Given the description of an element on the screen output the (x, y) to click on. 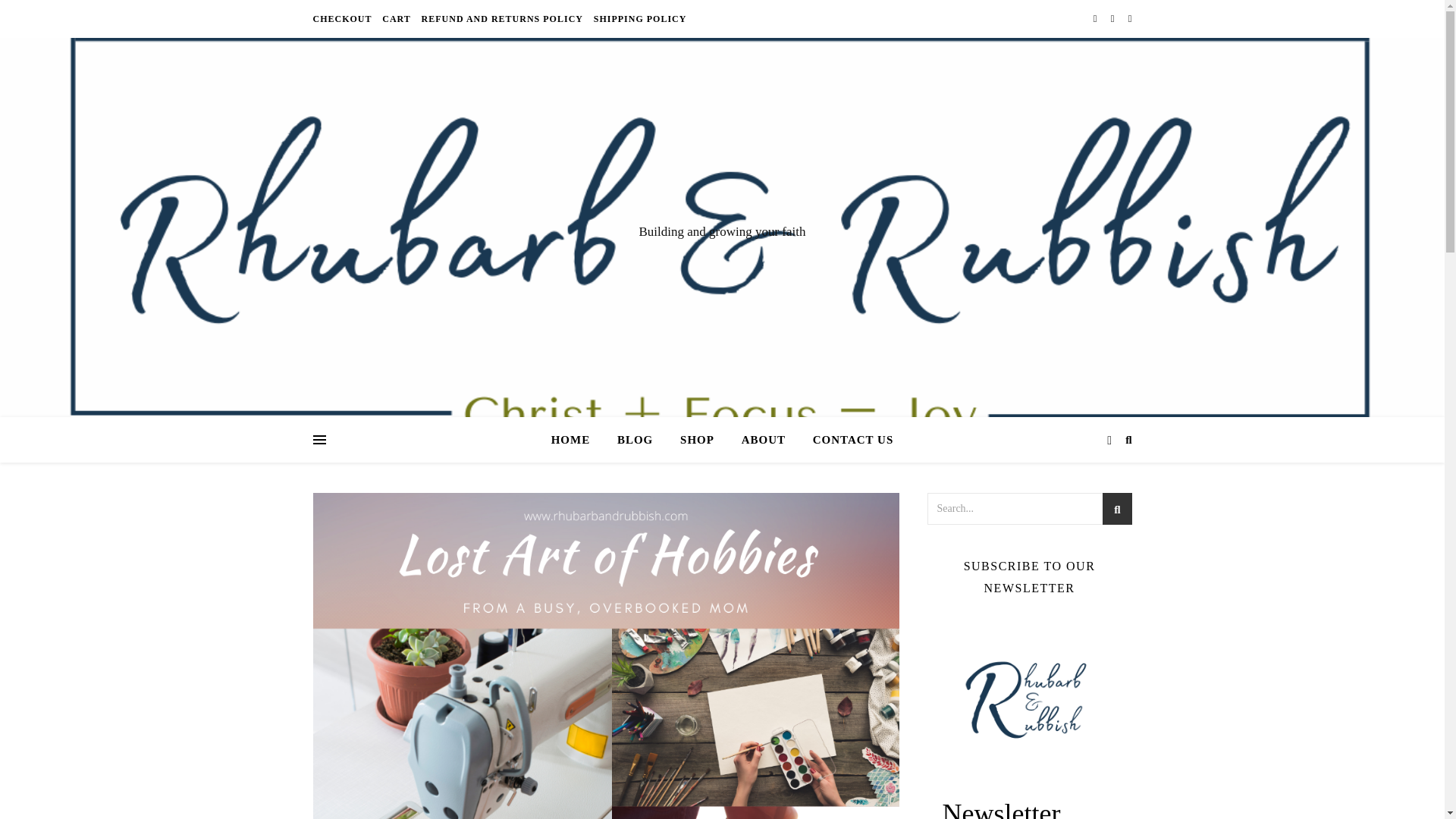
CHECKOUT (344, 18)
ABOUT (763, 439)
CART (396, 18)
CONTACT US (846, 439)
SHIPPING POLICY (638, 18)
HOME (576, 439)
BLOG (635, 439)
REFUND AND RETURNS POLICY (501, 18)
SHOP (697, 439)
